Given the description of an element on the screen output the (x, y) to click on. 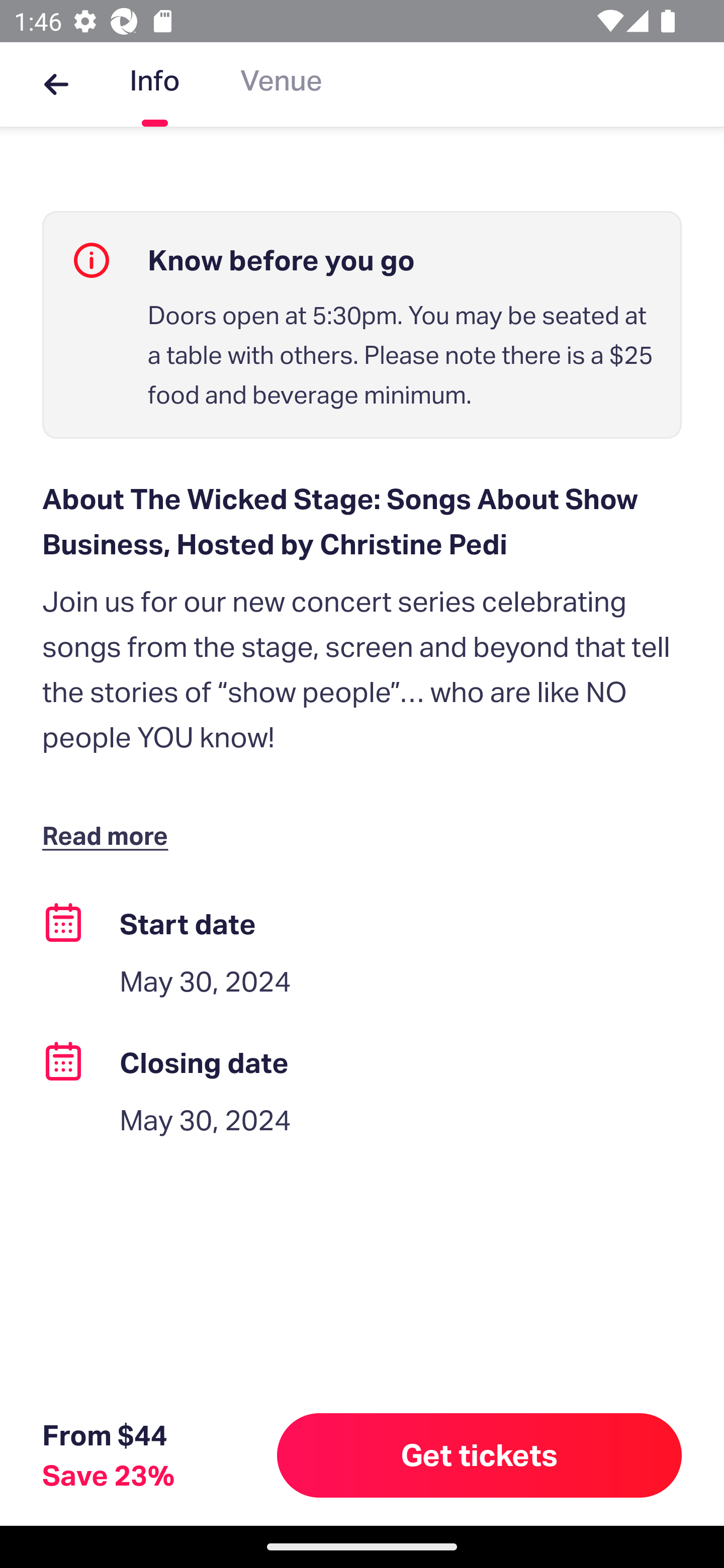
Venue (280, 84)
Read more (109, 834)
Get tickets (479, 1454)
